Given the description of an element on the screen output the (x, y) to click on. 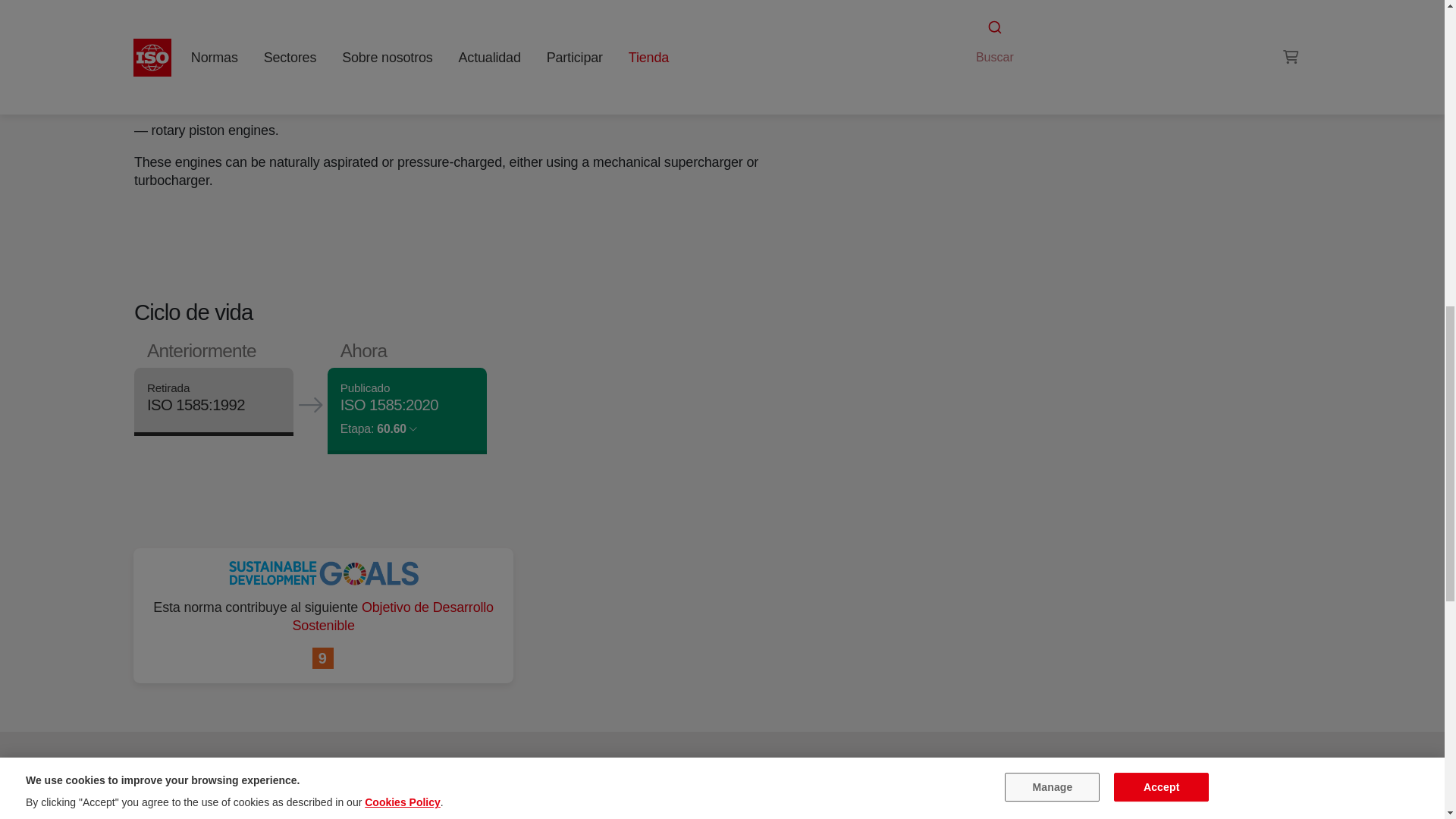
Internal combustion engines for road vehicles in general (997, 40)
RSS (956, 70)
43.060.01 (997, 40)
Industry, Innovation and Infrastructure (323, 658)
Propulsion, powertrain and powertrain fluids (1089, 22)
